Given the description of an element on the screen output the (x, y) to click on. 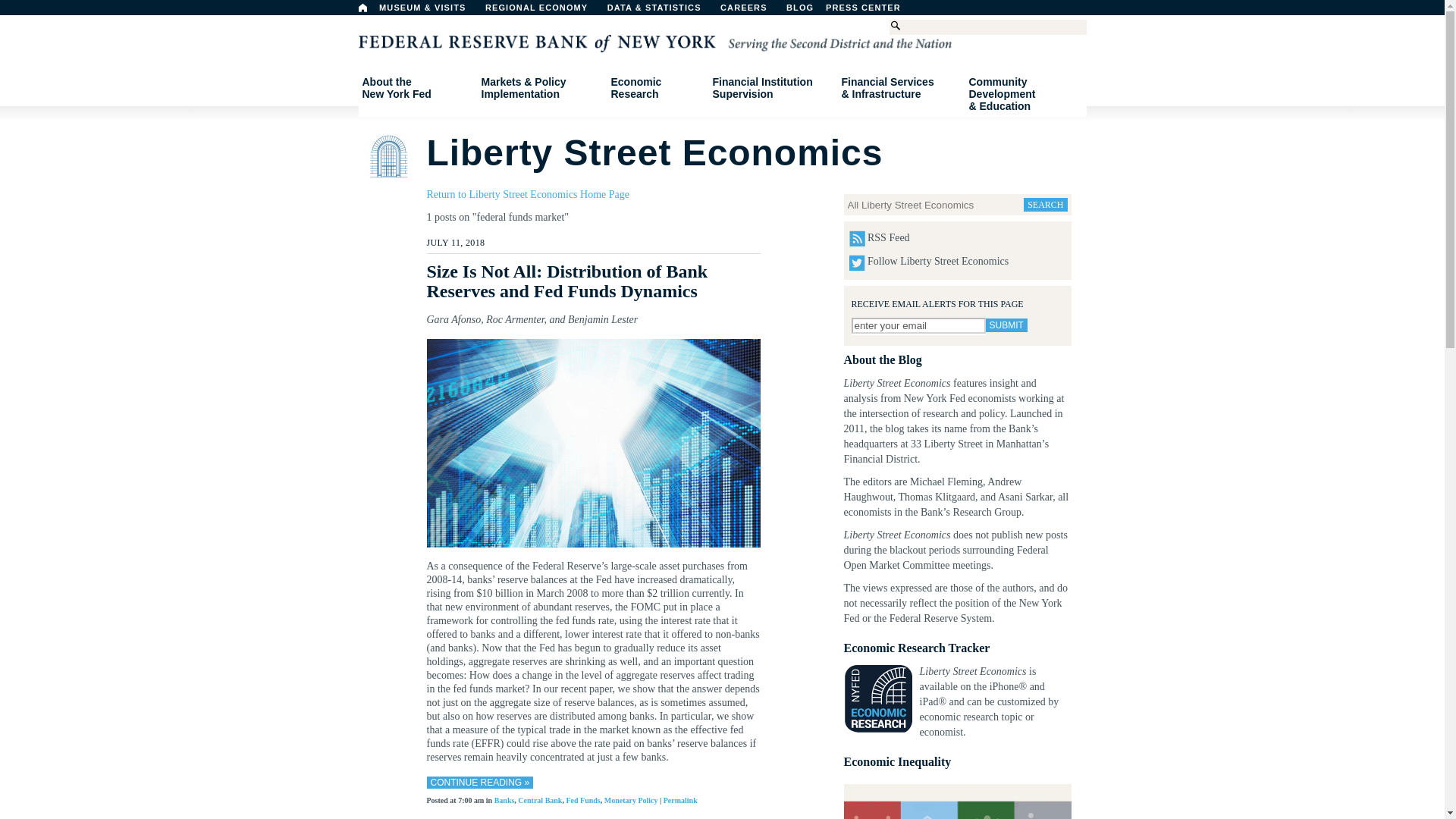
CAREERS (751, 11)
enter your email (415, 87)
Home (917, 325)
Submit (362, 8)
REGIONAL ECONOMY (1006, 325)
PRESS CENTER (543, 11)
BLOG (870, 11)
